Given the description of an element on the screen output the (x, y) to click on. 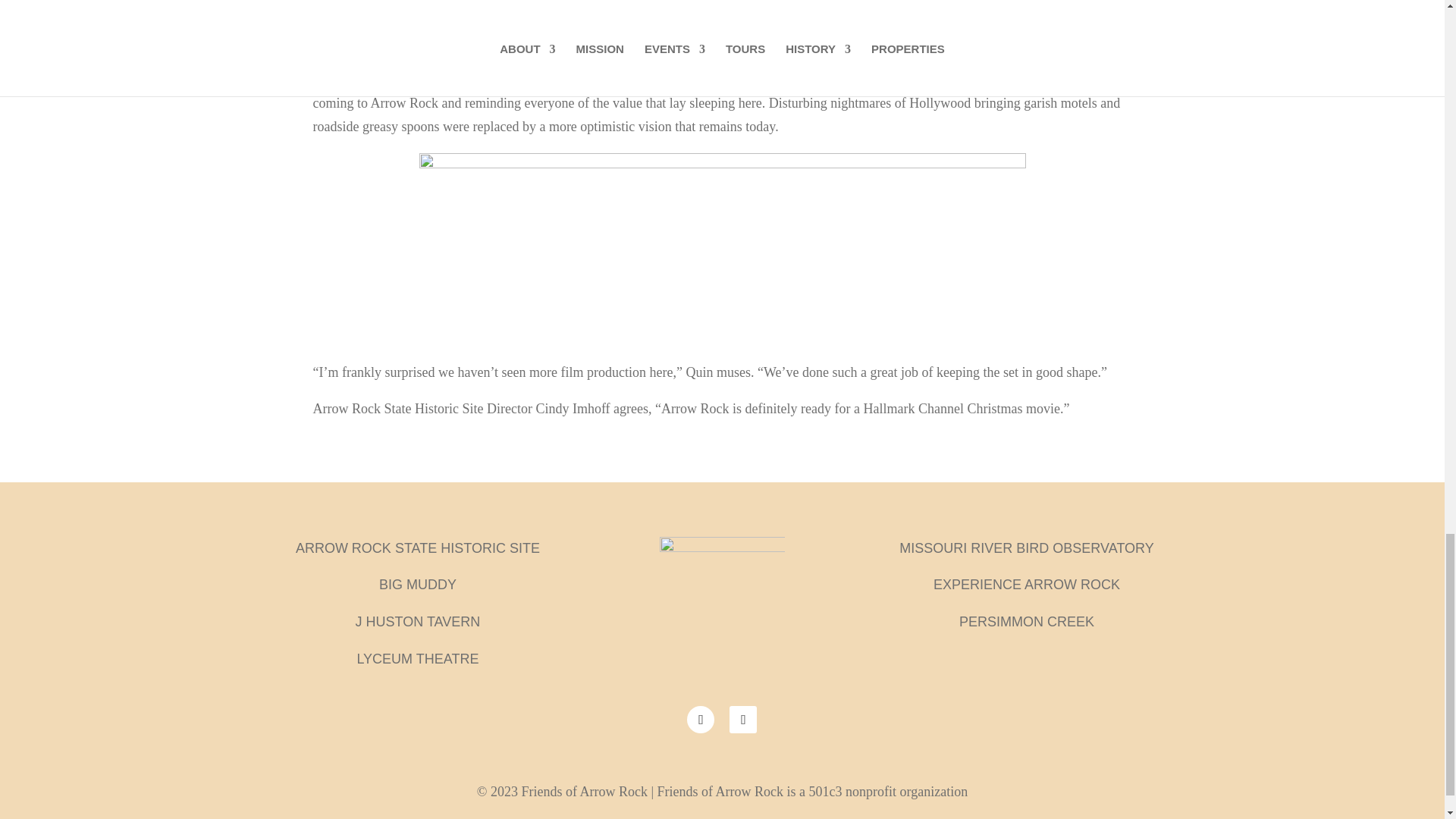
EXPERIENCE ARROW ROCK (1026, 584)
LYCEUM THEATRE (417, 658)
BIG MUDDY (417, 584)
PERSIMMON CREEK (1026, 621)
Follow on Facebook (700, 719)
Follow on Youtube (743, 719)
MISSOURI RIVER BIRD OBSERVATORY (1026, 548)
ARROW ROCK STATE HISTORIC SITE (417, 548)
J HUSTON TAVERN (417, 621)
